Given the description of an element on the screen output the (x, y) to click on. 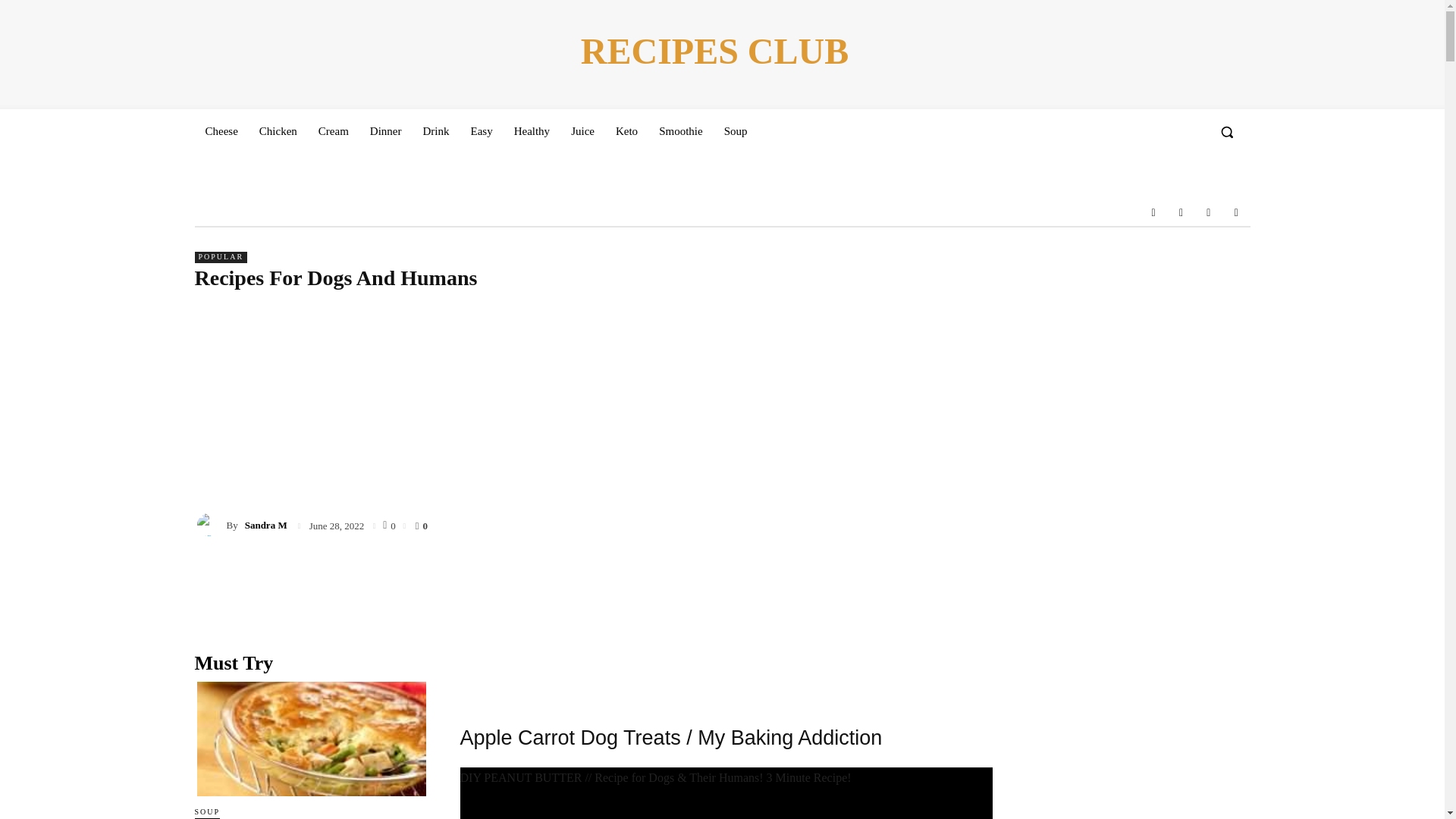
Cream (333, 130)
Facebook (1153, 212)
Easy (481, 130)
Youtube (1236, 212)
Keto (626, 130)
Juice (582, 130)
Drink (436, 130)
RECIPES CLUB (713, 52)
Chicken (277, 130)
Cheese (220, 130)
Smoothie (680, 130)
Healthy (531, 130)
Dinner (385, 130)
Soup (735, 130)
VKontakte (1209, 212)
